Given the description of an element on the screen output the (x, y) to click on. 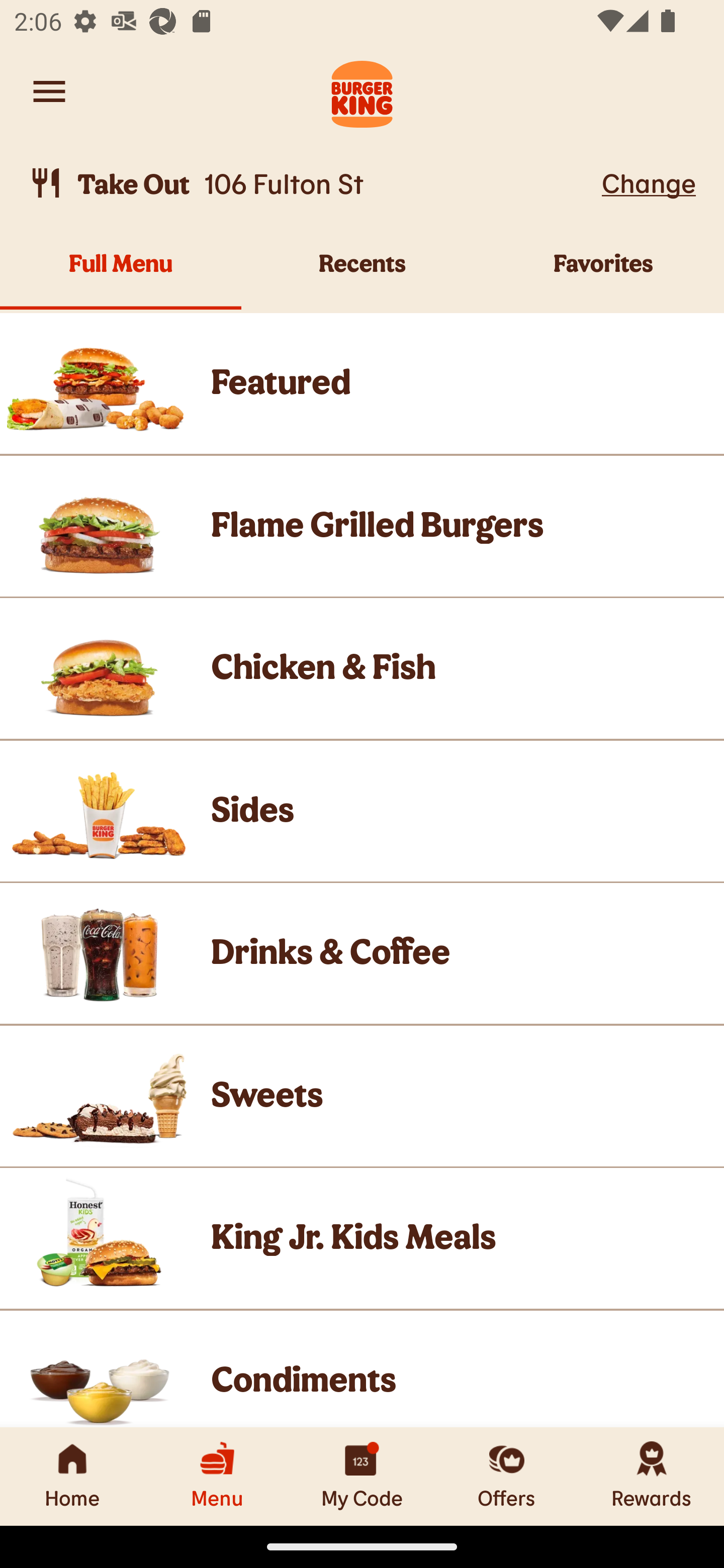
Burger King Logo. Navigate to Home (362, 91)
Navigate to account menu  (49, 91)
Take Out, 106 Fulton St  Take Out 106 Fulton St (311, 183)
Change (648, 182)
Full Menu (120, 273)
Recents (361, 273)
Favorites (603, 273)
Product Image, Featured Product Image Featured (362, 383)
Product Image, Sides Product Image Sides (362, 810)
Product Image, Sweets Product Image Sweets (362, 1095)
Product Image, Condiments Product Image Condiments (362, 1368)
Home (72, 1475)
Menu (216, 1475)
My Code (361, 1475)
Offers (506, 1475)
Rewards (651, 1475)
